Given the description of an element on the screen output the (x, y) to click on. 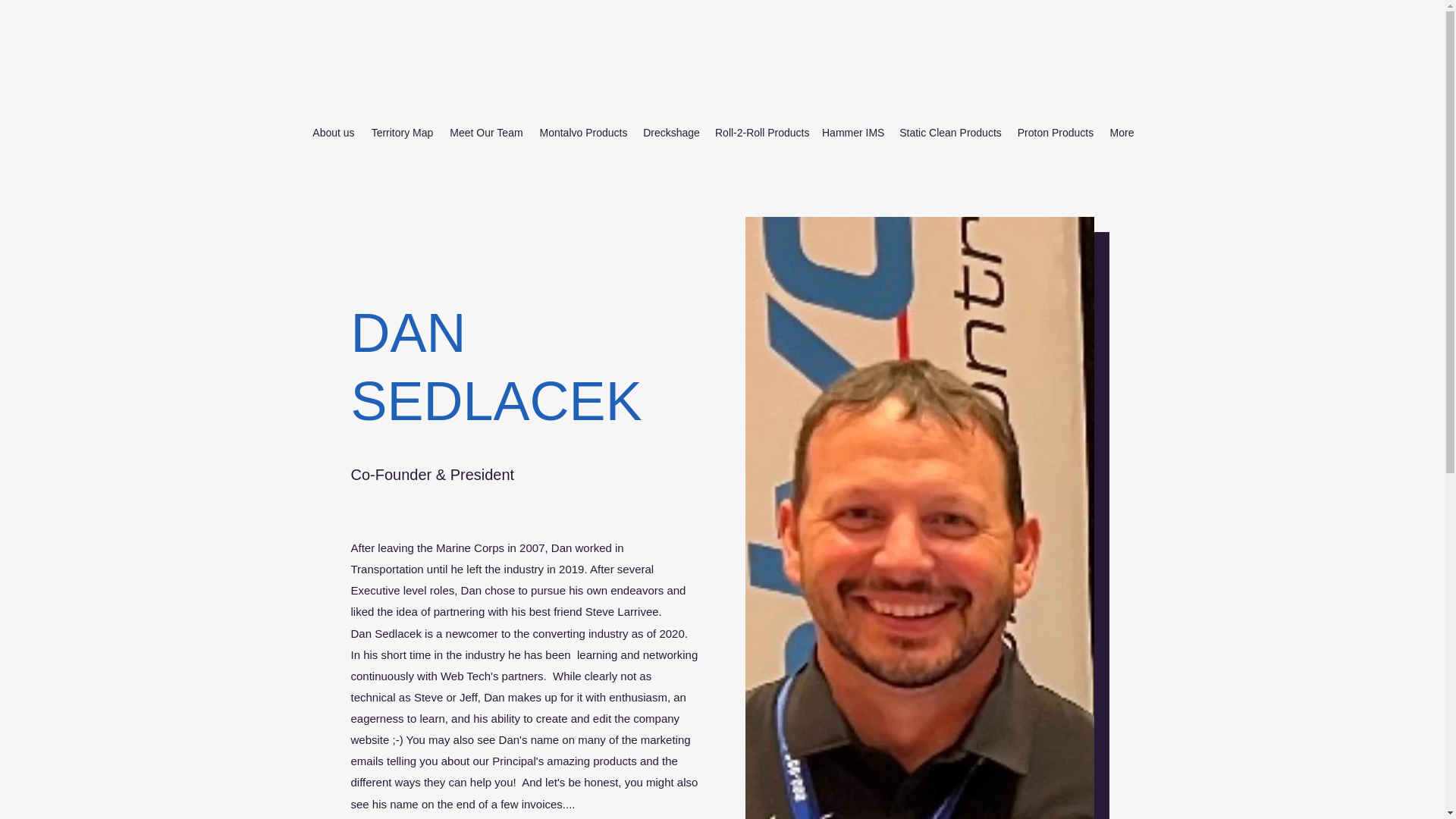
Hammer IMS (852, 132)
Proton Products (1055, 132)
Meet Our Team (486, 132)
Territory Map (401, 132)
About us (333, 132)
Dreckshage (670, 132)
Montalvo Products (582, 132)
Roll-2-Roll Products (760, 132)
Static Clean Products (950, 132)
